Given the description of an element on the screen output the (x, y) to click on. 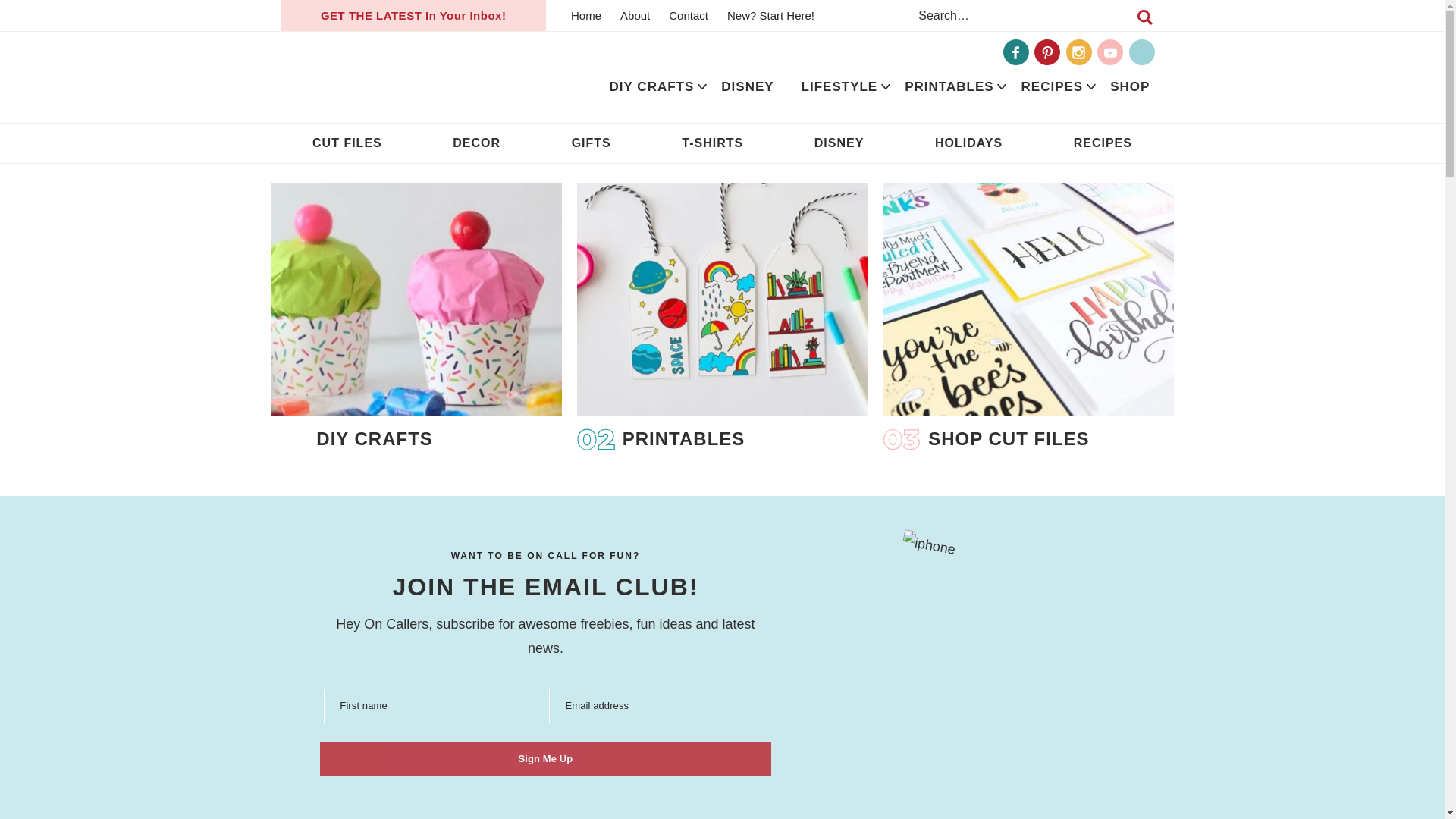
New? Start Here! (770, 15)
GET THE LATEST In Your Inbox! (413, 15)
Contact (688, 15)
DIY CRAFTS (651, 86)
Home (585, 15)
PRINTABLES (949, 86)
RECIPES (1052, 86)
LIZ ON CALL (391, 77)
DISNEY (747, 86)
LIFESTYLE (839, 86)
Search for (1031, 15)
About (635, 15)
